Given the description of an element on the screen output the (x, y) to click on. 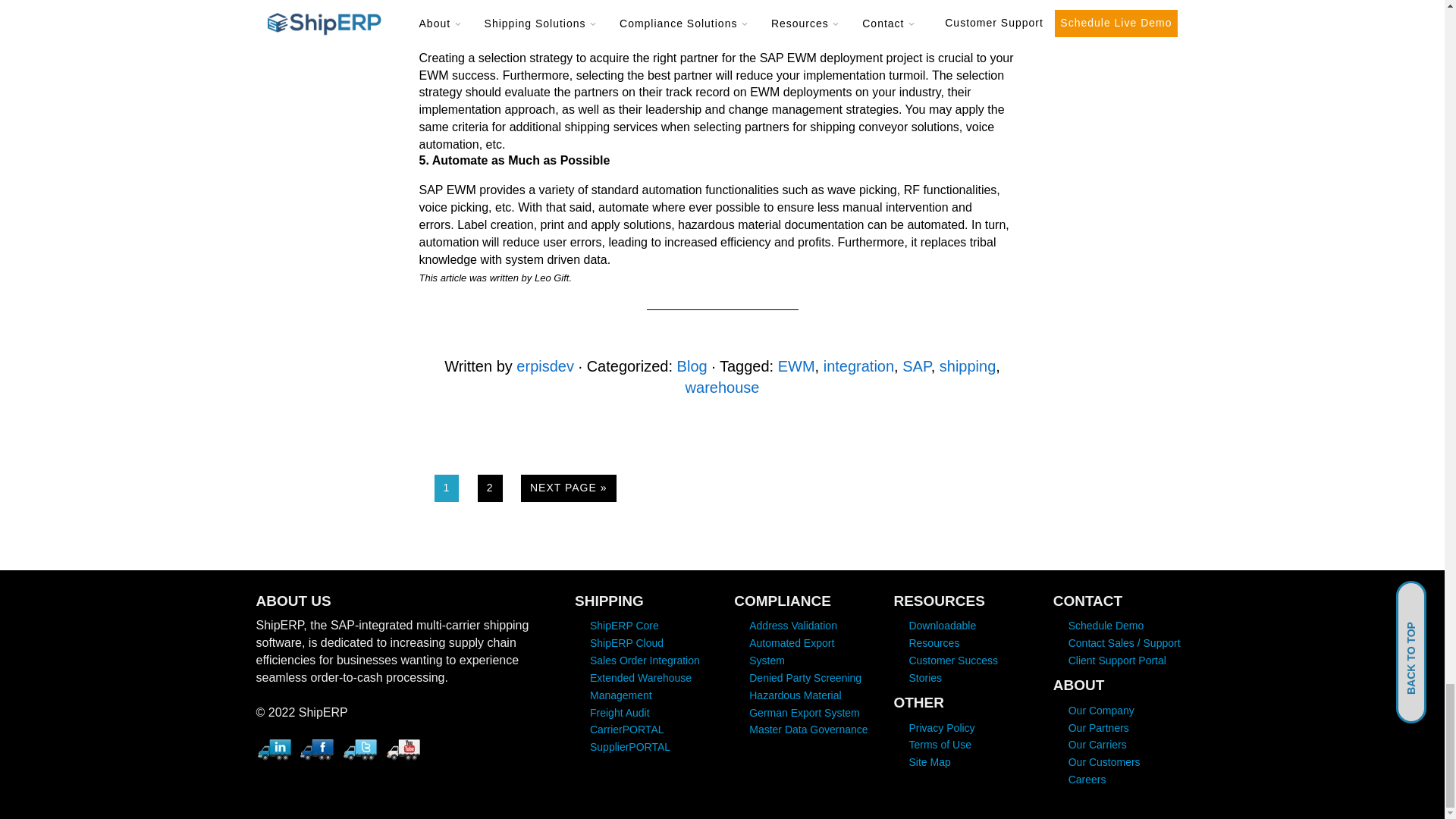
ShipERP Freight Auditing (619, 712)
ShipERP Address Validation (793, 625)
ShipERP Automated Export System (791, 651)
ShipERP Denied Party Screening (805, 677)
ShipERP Carrier Portal (626, 729)
ShipERP Sales Order Integration (644, 660)
ShipERP Extended Warehouse (640, 686)
ShipERP Cloud (626, 643)
ShipERP Supplier Portal Module (629, 746)
